Given the description of an element on the screen output the (x, y) to click on. 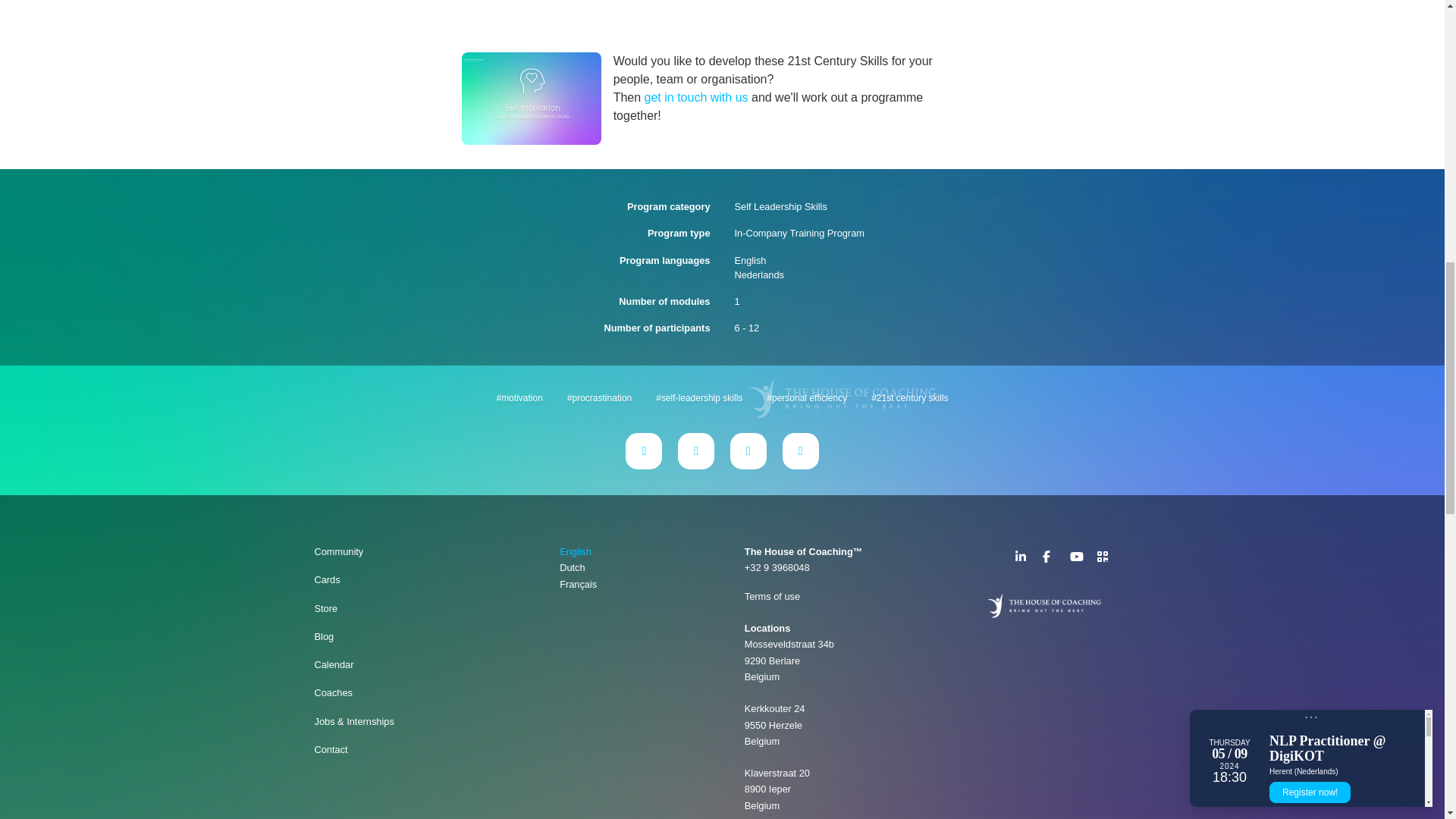
Facebook Page (1048, 557)
LinkedIn Page (1021, 557)
Self Leadership Skills (780, 206)
motivation (518, 397)
YouTube Channel (1075, 557)
Contact (405, 749)
Terms of use (771, 595)
self-leadership skills (698, 397)
Self-motivation (530, 97)
procrastination (598, 397)
